Given the description of an element on the screen output the (x, y) to click on. 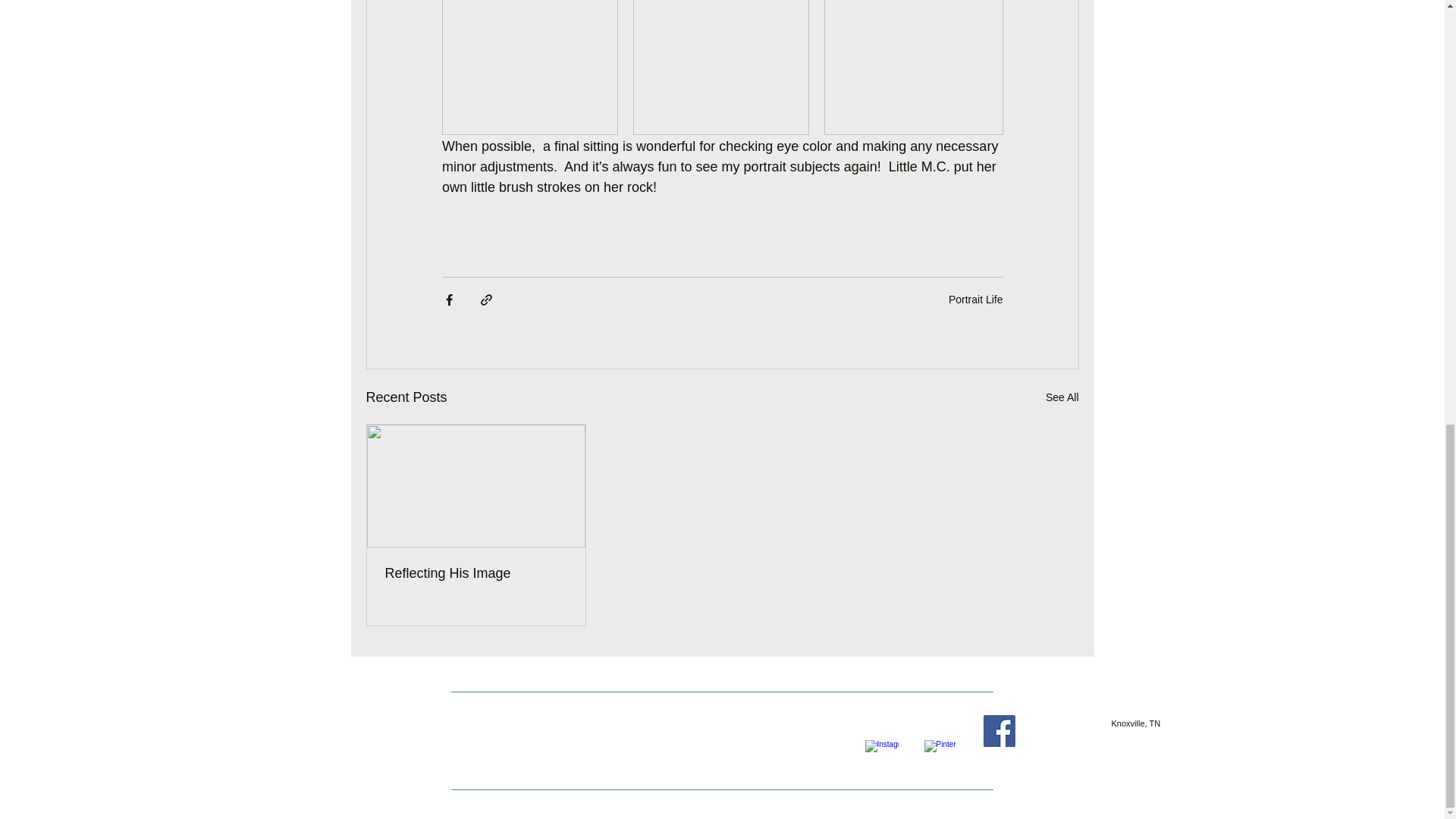
See All (1061, 397)
Portrait Life (976, 299)
Reflecting His Image (476, 573)
